Given the description of an element on the screen output the (x, y) to click on. 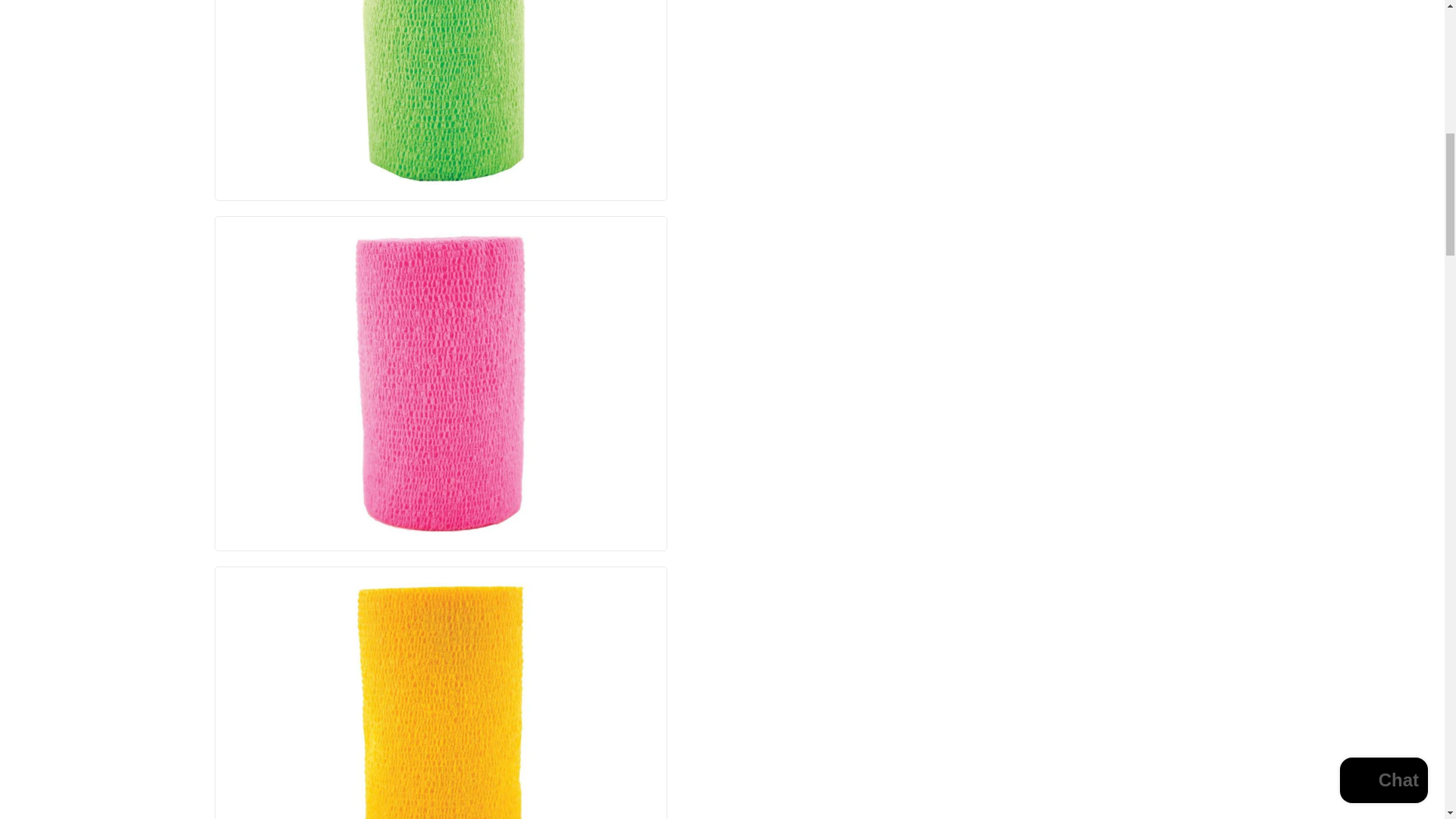
Open Product Zoom (441, 700)
Open Product Zoom (441, 383)
Open Product Zoom (441, 92)
